Given the description of an element on the screen output the (x, y) to click on. 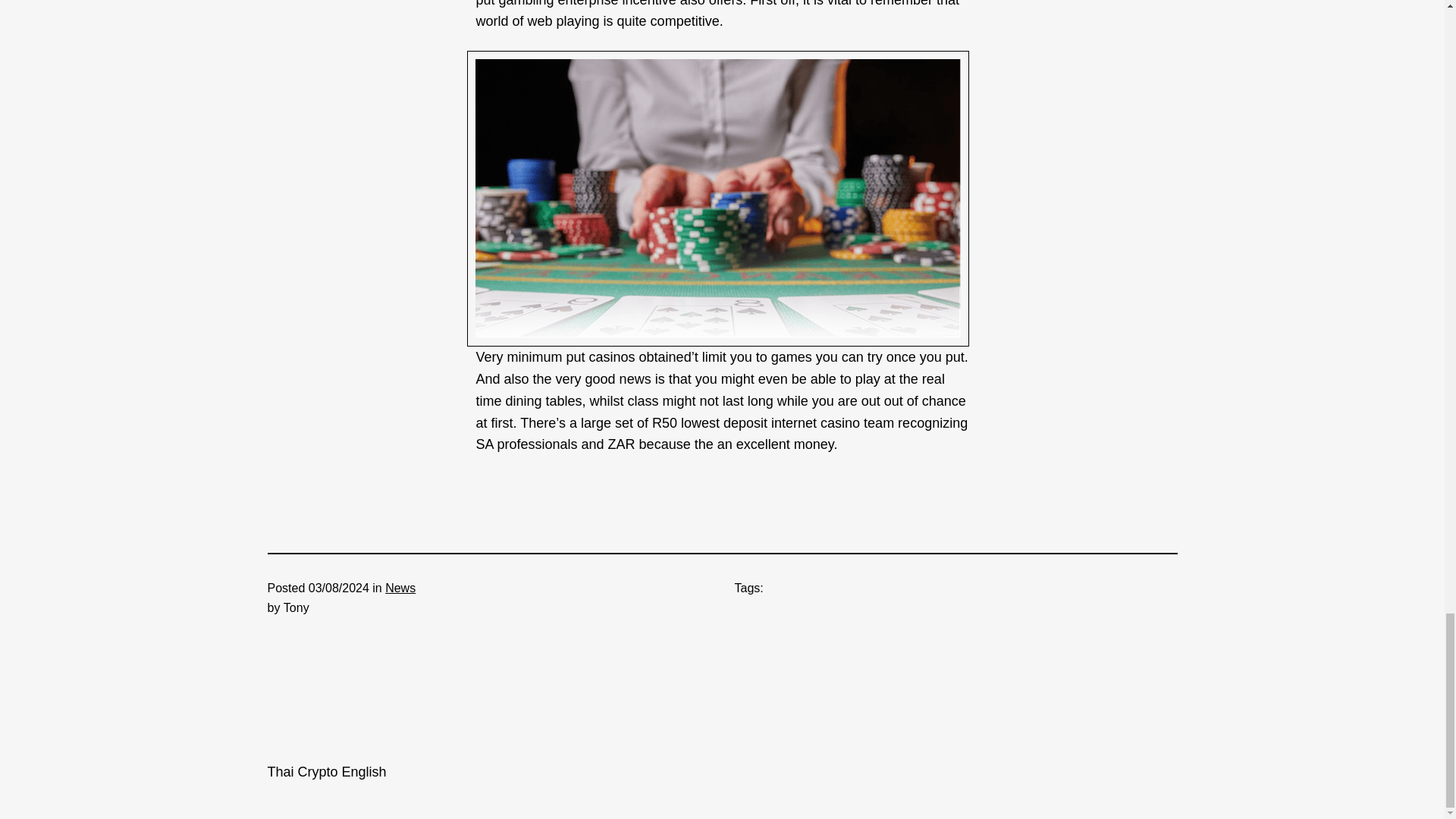
Thai Crypto English (325, 771)
News (399, 587)
